Given the description of an element on the screen output the (x, y) to click on. 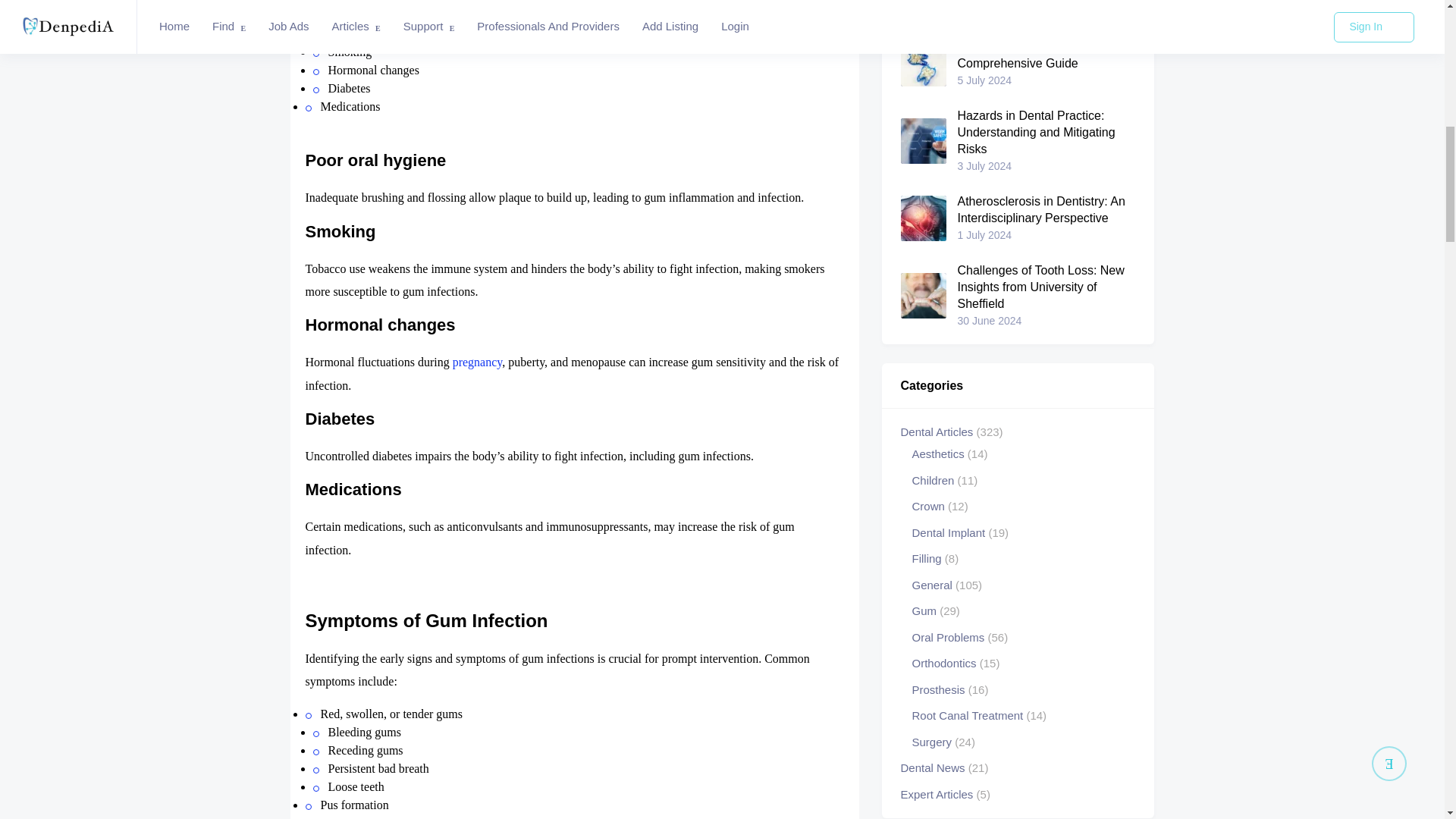
pregnancy (477, 361)
